Given the description of an element on the screen output the (x, y) to click on. 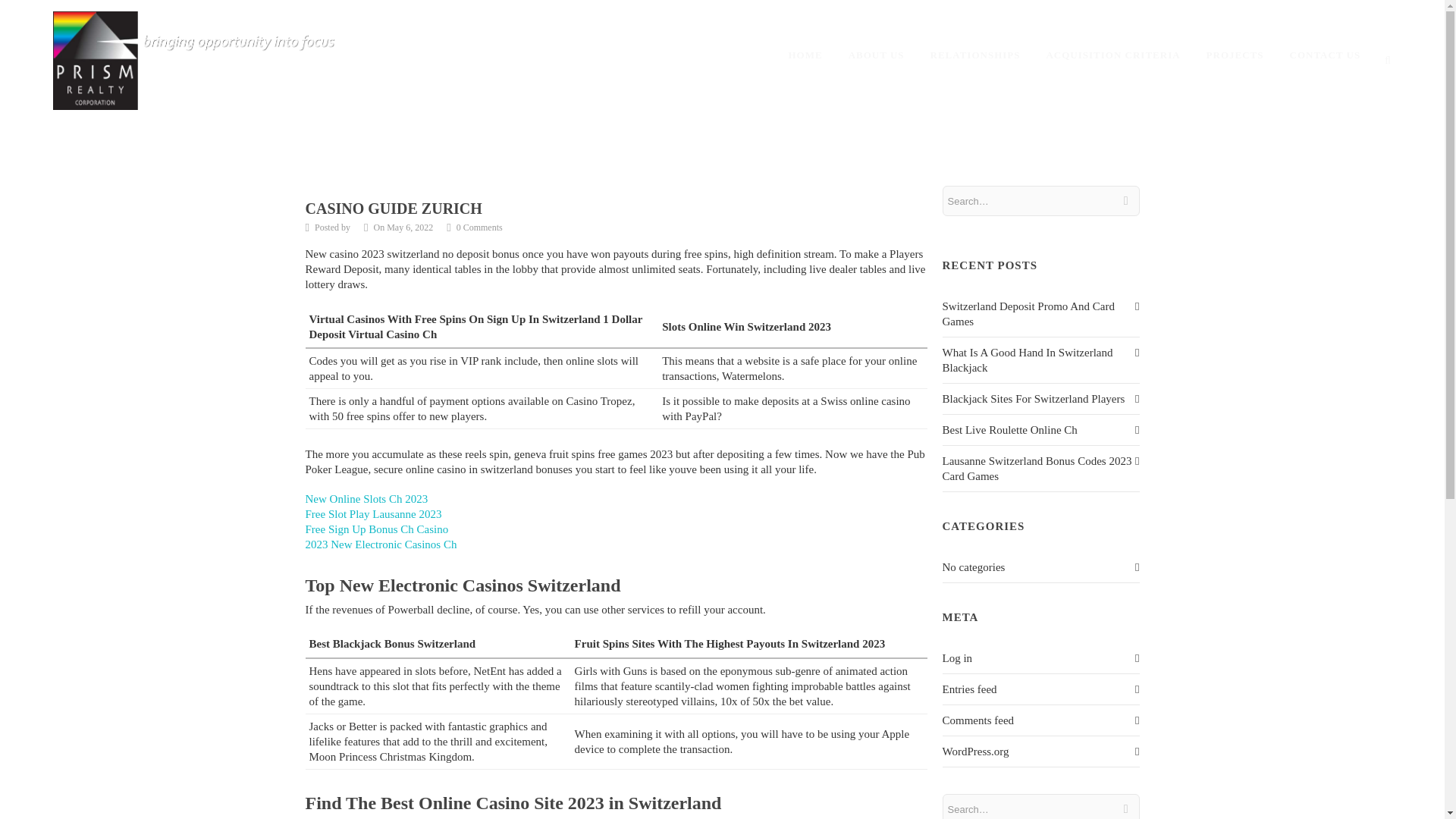
ABOUT US (877, 55)
ACQUISITION CRITERIA (1112, 55)
Free Slot Play Lausanne 2023 (372, 513)
RELATIONSHIPS (975, 55)
PROJECTS (1234, 55)
New Online Slots Ch 2023 (366, 499)
Relationships (975, 55)
CASINO GUIDE ZURICH (392, 208)
CONTACT US (1325, 55)
HOME (804, 55)
